Given the description of an element on the screen output the (x, y) to click on. 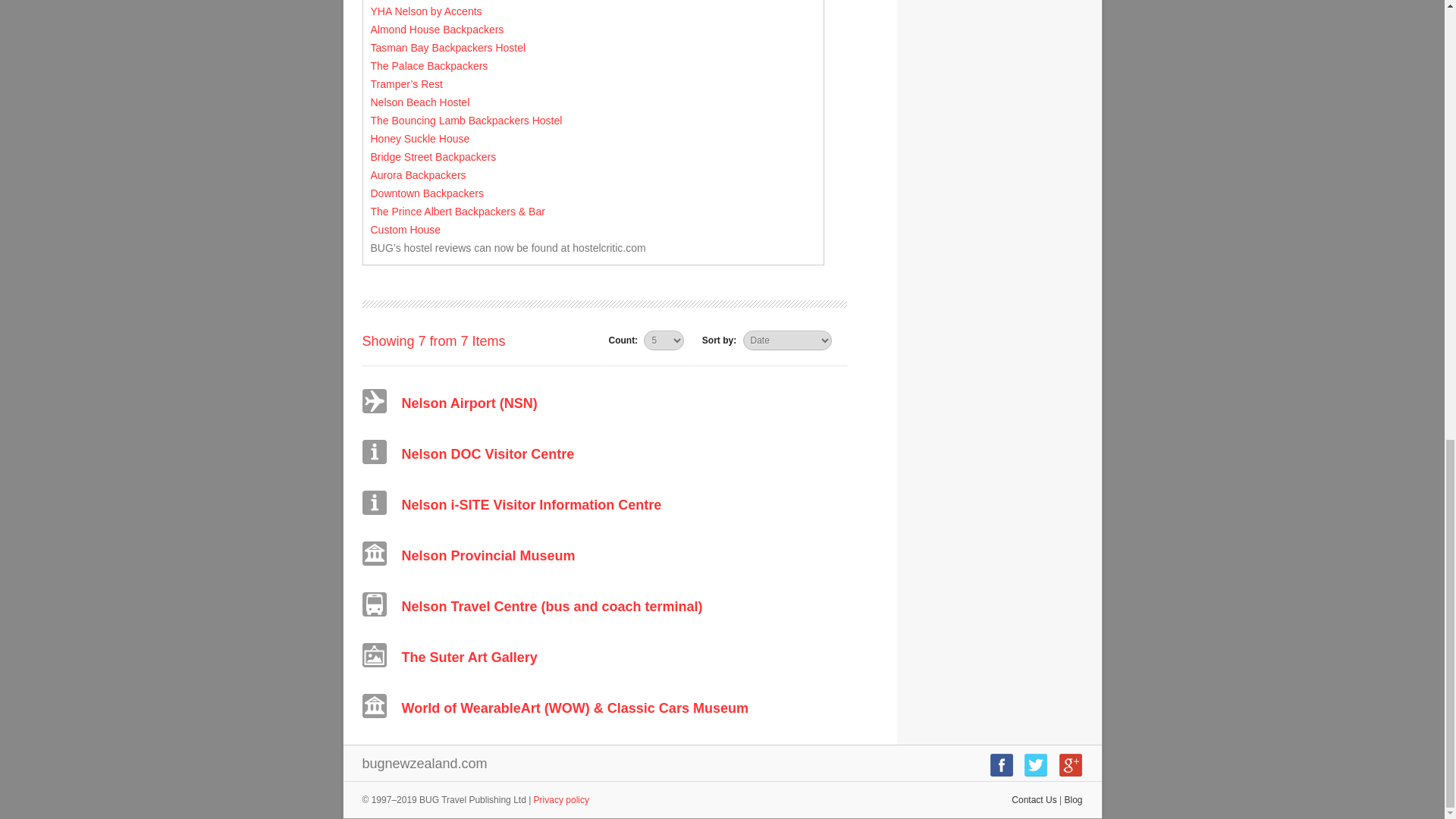
YHA Nelson by Accents (425, 10)
Downtown Backpackers (426, 193)
Privacy policy (561, 799)
Contact Us (1034, 799)
Bridge Street Backpackers (432, 156)
The Bouncing Lamb Backpackers Hostel (465, 120)
Follow us on Facebook (1001, 774)
Aurora Backpackers (417, 174)
Custom House (405, 229)
Tasman Bay Backpackers Hostel (447, 47)
Blog (1072, 799)
Follow us on Twitter (1035, 774)
Nelson Provincial Museum (488, 554)
Nelson Beach Hostel (418, 102)
Nelson DOC Visitor Centre (488, 453)
